Given the description of an element on the screen output the (x, y) to click on. 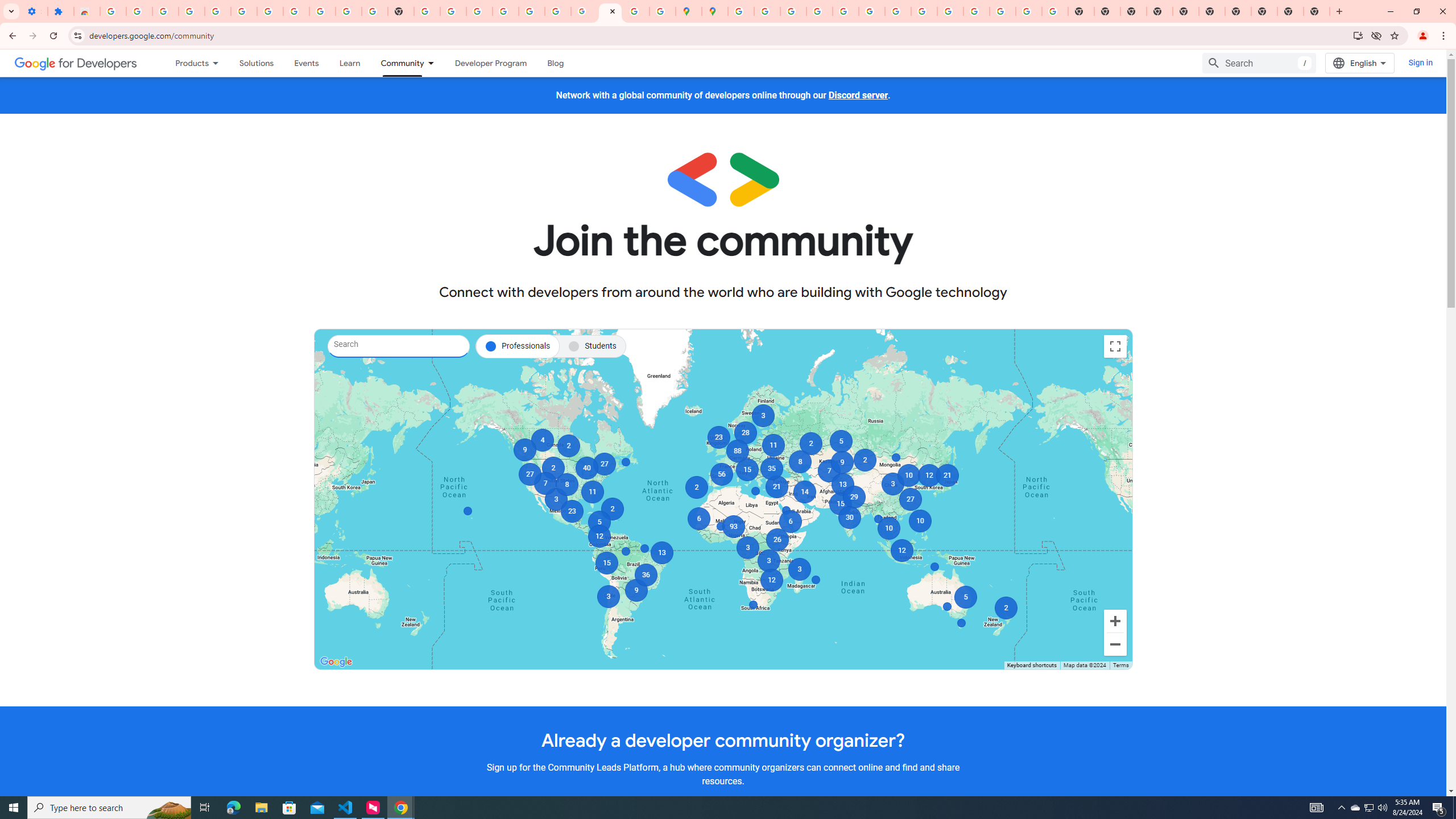
New Tab (1159, 11)
Install Google Developers (1358, 35)
4 (541, 440)
29 (854, 496)
Sign in - Google Accounts (740, 11)
3 (746, 547)
Delete photos & videos - Computer - Google Photos Help (191, 11)
5 (599, 522)
6 (698, 517)
